Given the description of an element on the screen output the (x, y) to click on. 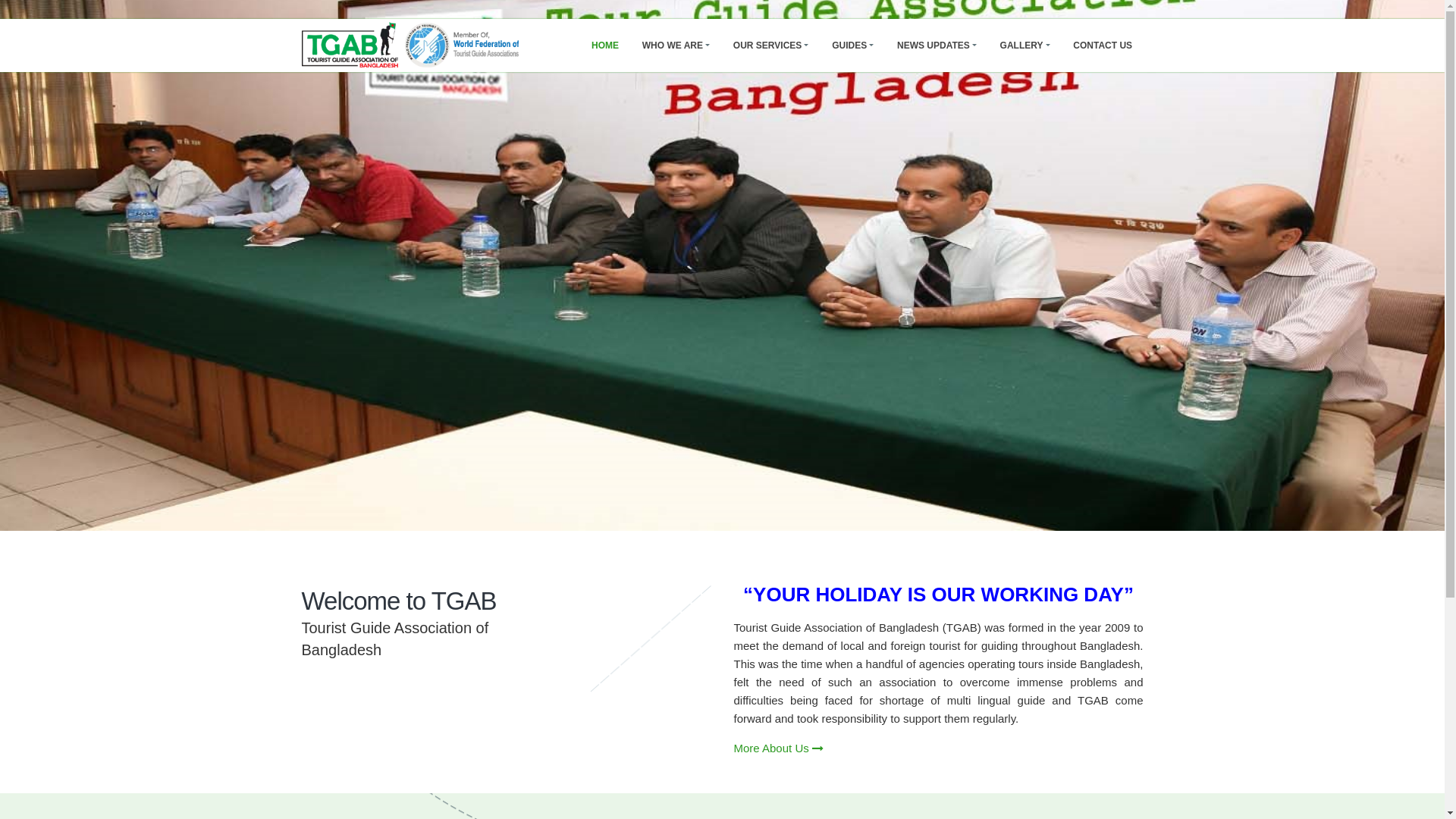
NEWS UPDATES Element type: text (937, 45)
CONTACT US Element type: text (1102, 45)
More About Us Element type: text (778, 747)
GUIDES Element type: text (852, 45)
GALLERY Element type: text (1024, 45)
WHO WE ARE Element type: text (675, 45)
OUR SERVICES Element type: text (770, 45)
HOME Element type: text (605, 45)
